Given the description of an element on the screen output the (x, y) to click on. 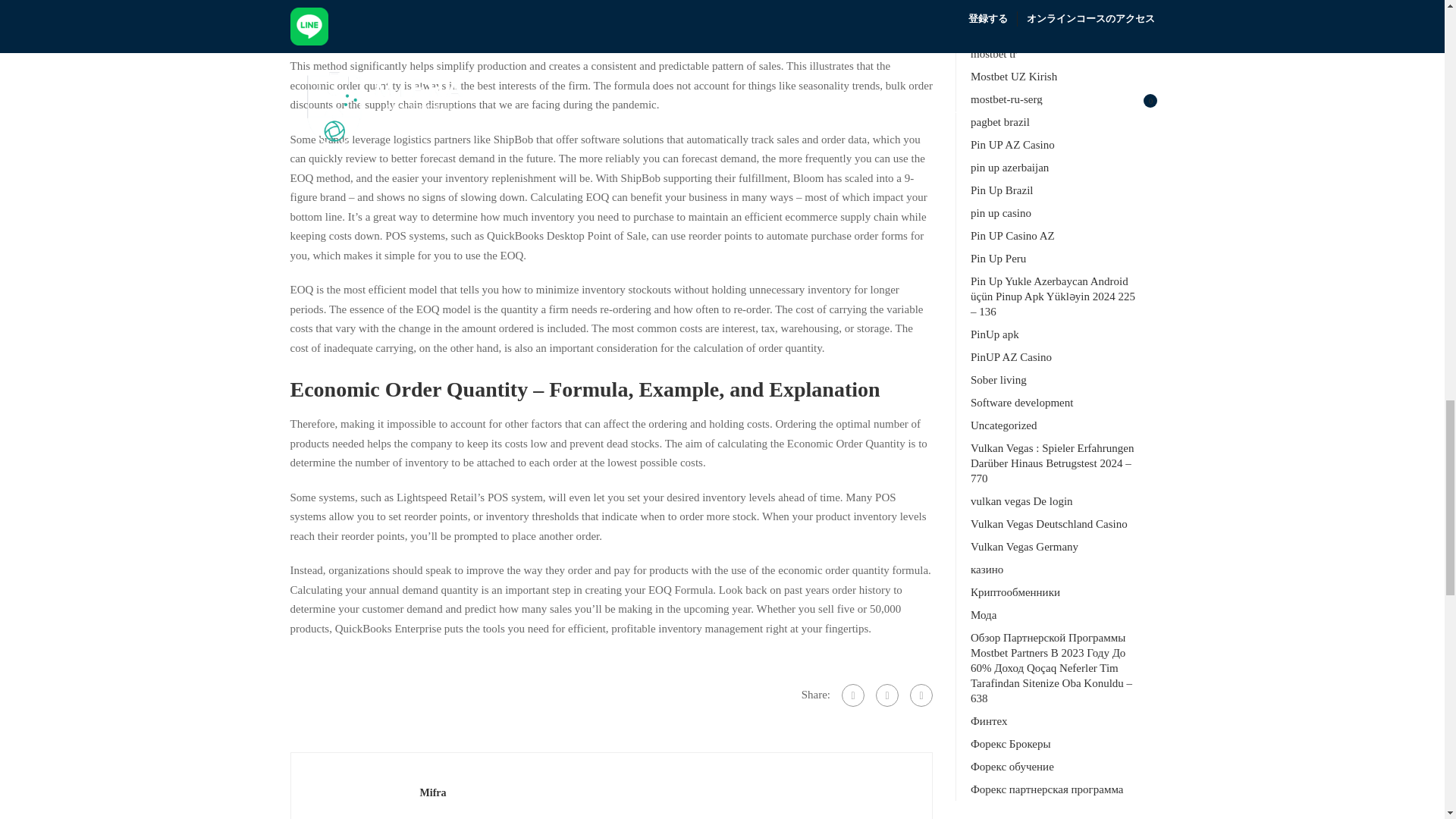
Mifra (433, 792)
Facebook (852, 694)
Twitter (887, 694)
